Given the description of an element on the screen output the (x, y) to click on. 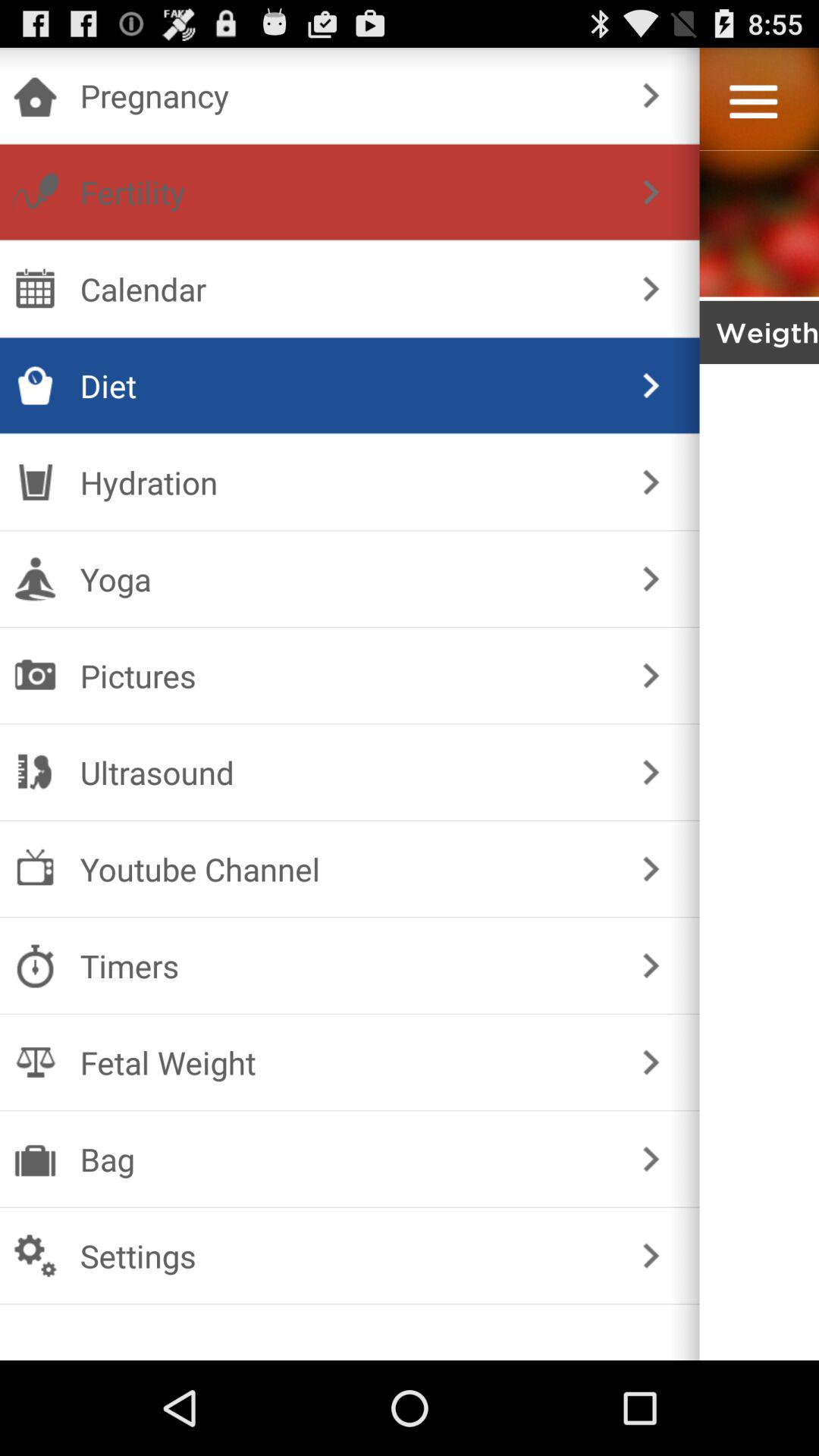
select the checkbox below diet icon (346, 481)
